Given the description of an element on the screen output the (x, y) to click on. 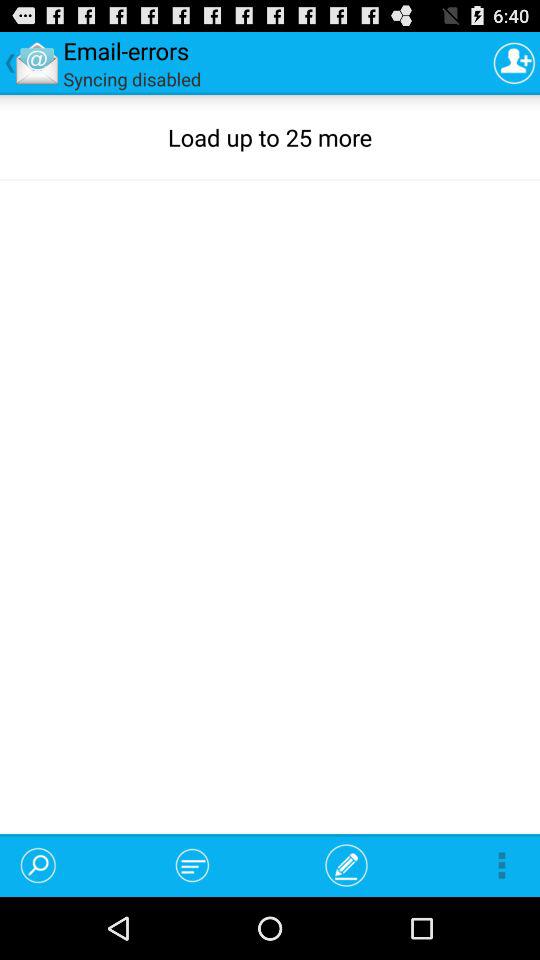
turn off the item to the right of syncing disabled item (514, 62)
